Given the description of an element on the screen output the (x, y) to click on. 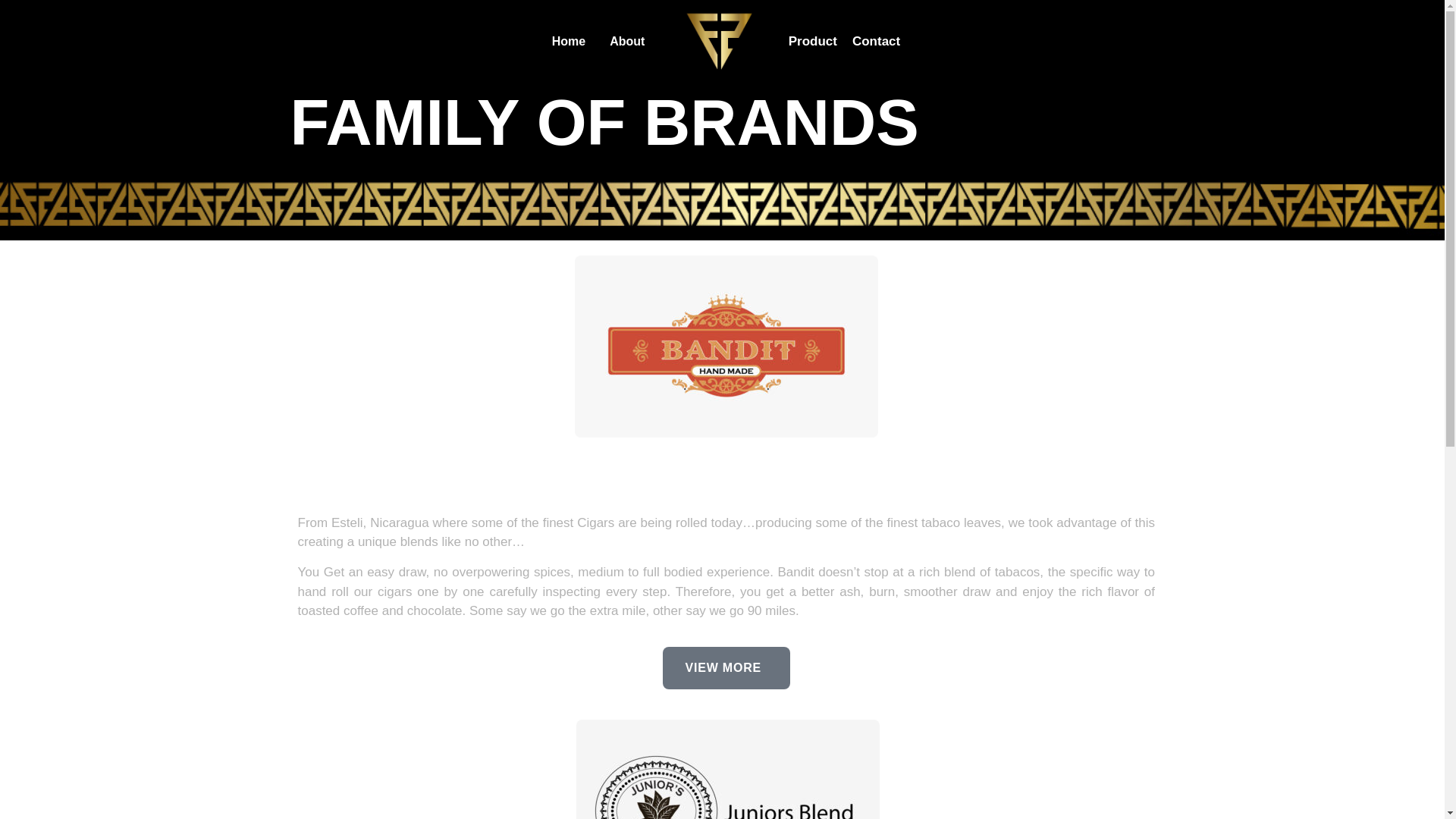
Home (568, 41)
Product (812, 41)
About (627, 41)
Contact (875, 41)
